Given the description of an element on the screen output the (x, y) to click on. 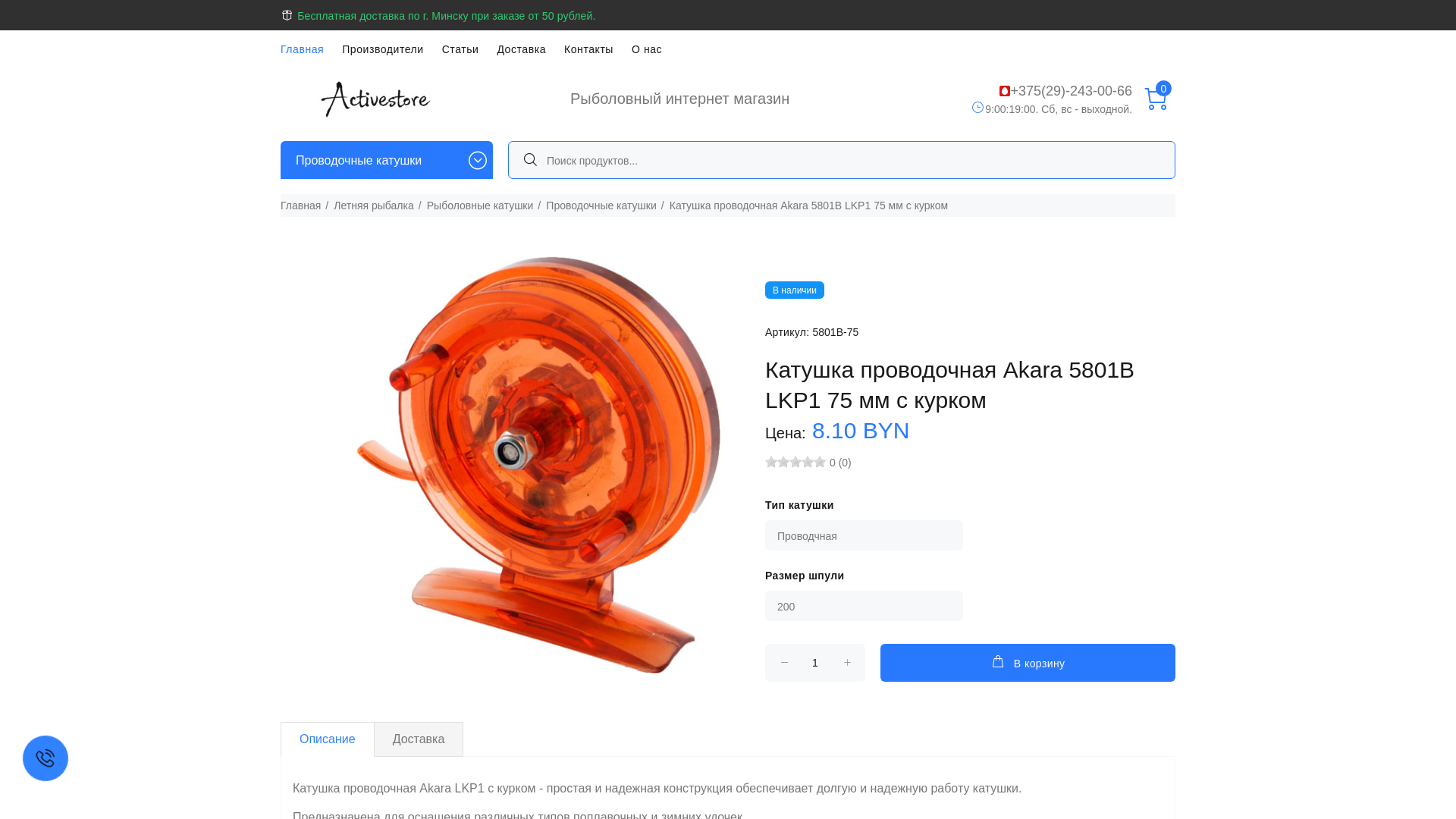
+375(29)-243-00-66 Element type: text (1071, 90)
0 Element type: text (1155, 99)
